Given the description of an element on the screen output the (x, y) to click on. 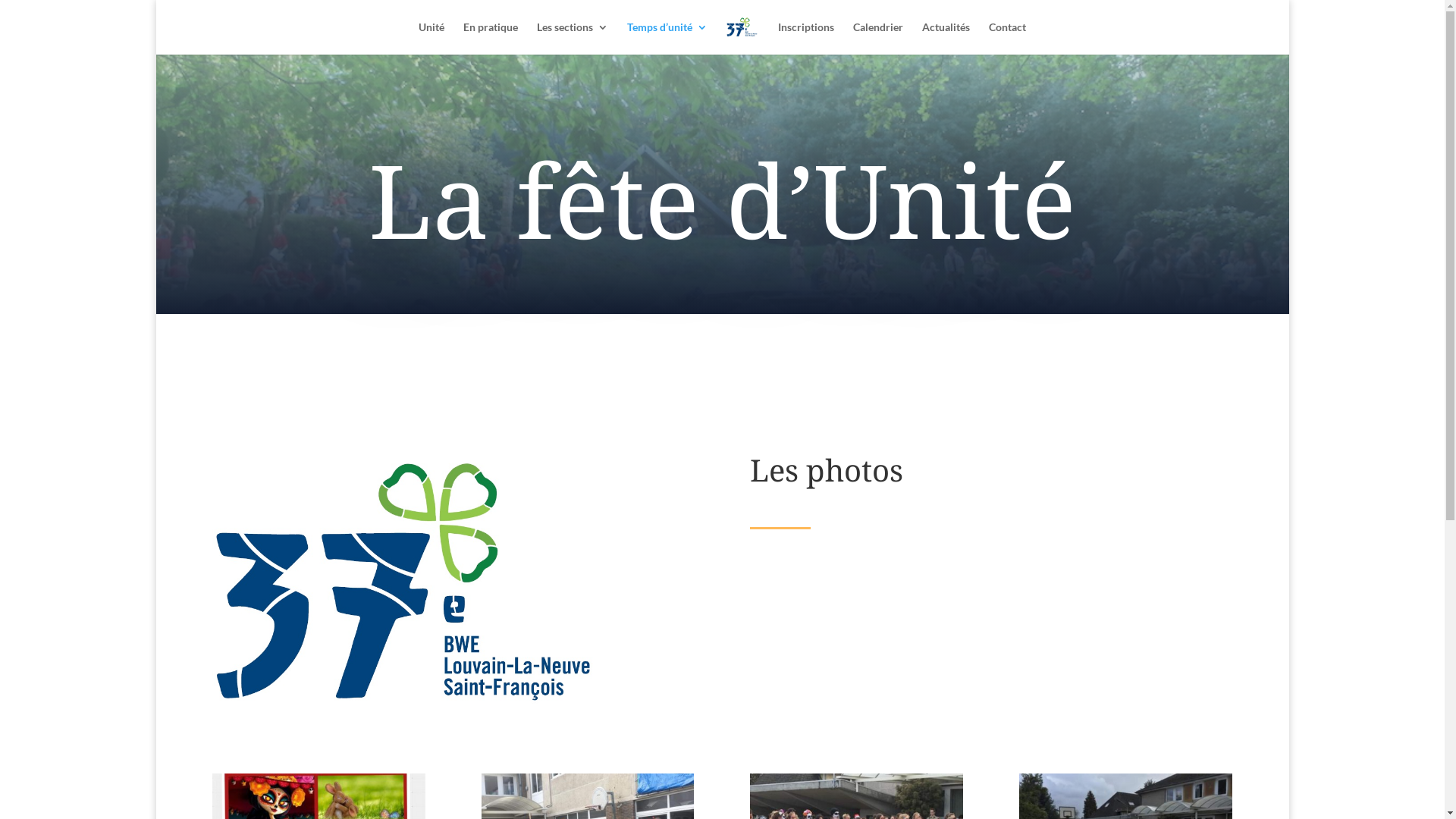
En pratique Element type: text (490, 37)
Les sections Element type: text (572, 37)
Inscriptions Element type: text (806, 37)
Contact Element type: text (1007, 37)
Calendrier Element type: text (878, 37)
